Given the description of an element on the screen output the (x, y) to click on. 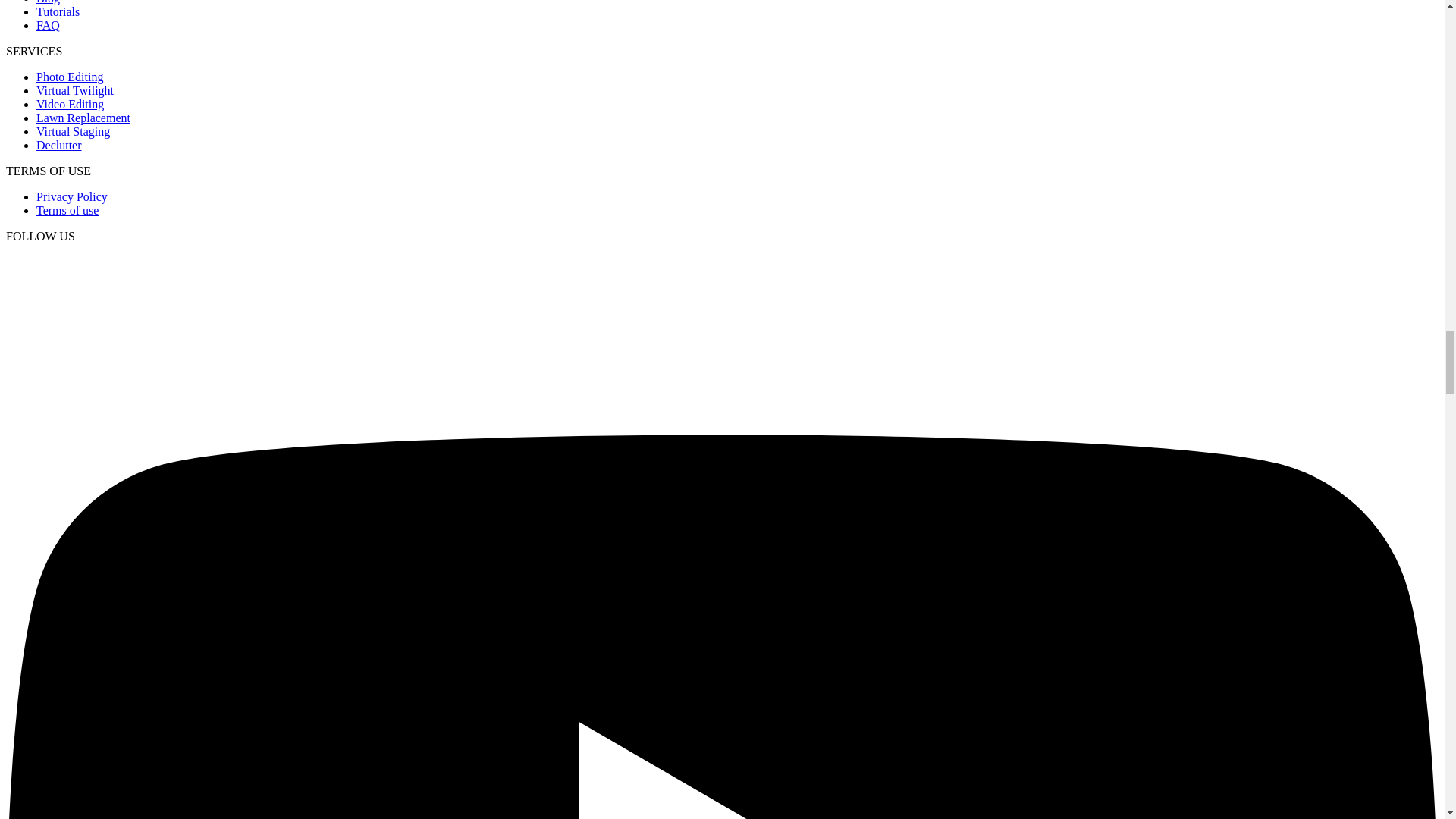
Privacy Policy (71, 196)
Virtual Staging (73, 131)
Video Editing (69, 103)
Tutorials (58, 11)
Lawn Replacement (83, 117)
Declutter (58, 144)
Photo Editing (69, 76)
Blog (47, 2)
Terms of use (67, 210)
Virtual Twilight (74, 90)
FAQ (47, 24)
